Given the description of an element on the screen output the (x, y) to click on. 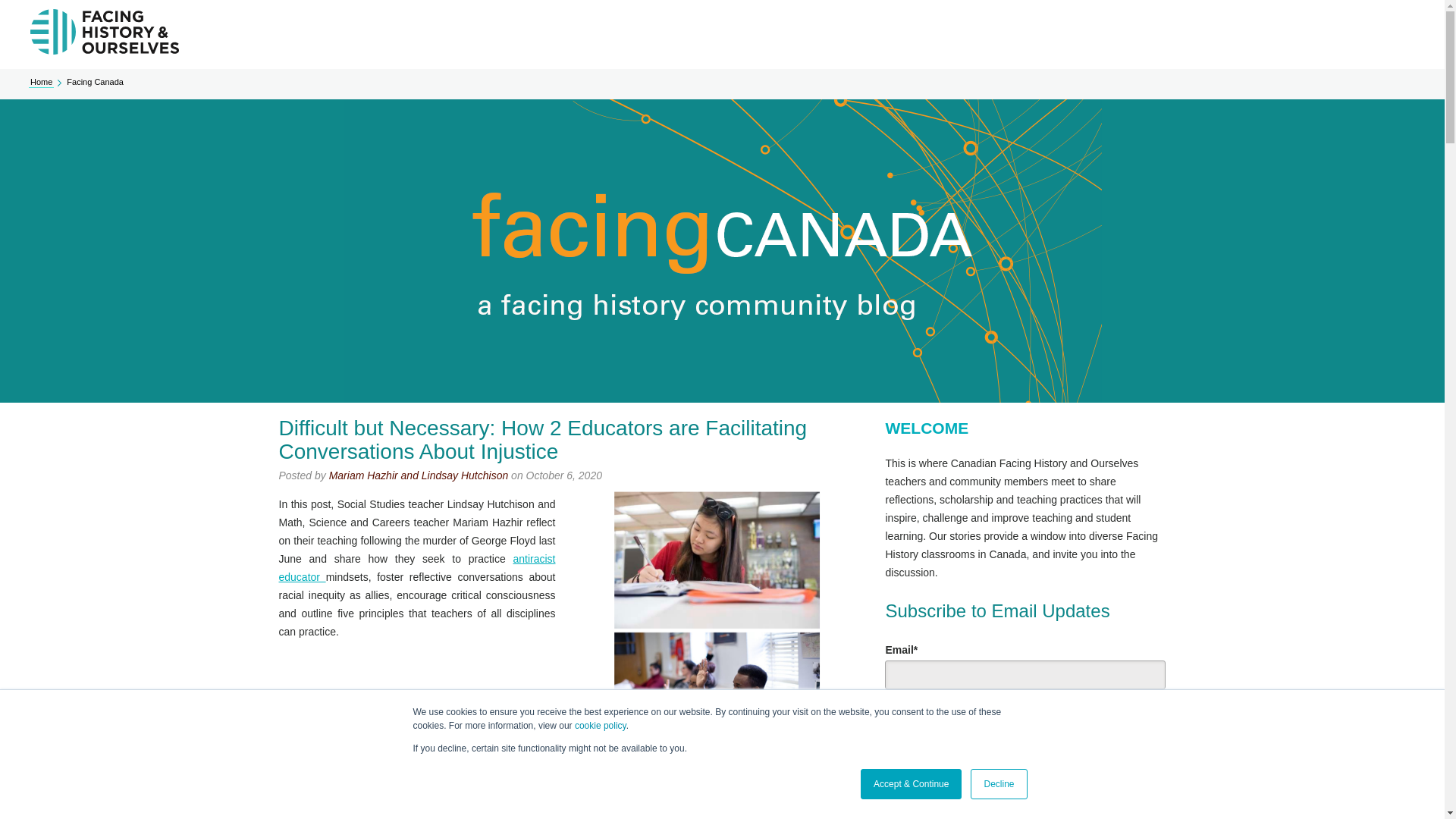
antiracist educator (417, 567)
Home (41, 81)
Decline (998, 784)
Mariam Hazhir and Lindsay Hutchison (418, 475)
instant (893, 716)
READ MORE (331, 811)
cookie policy (600, 725)
